Given the description of an element on the screen output the (x, y) to click on. 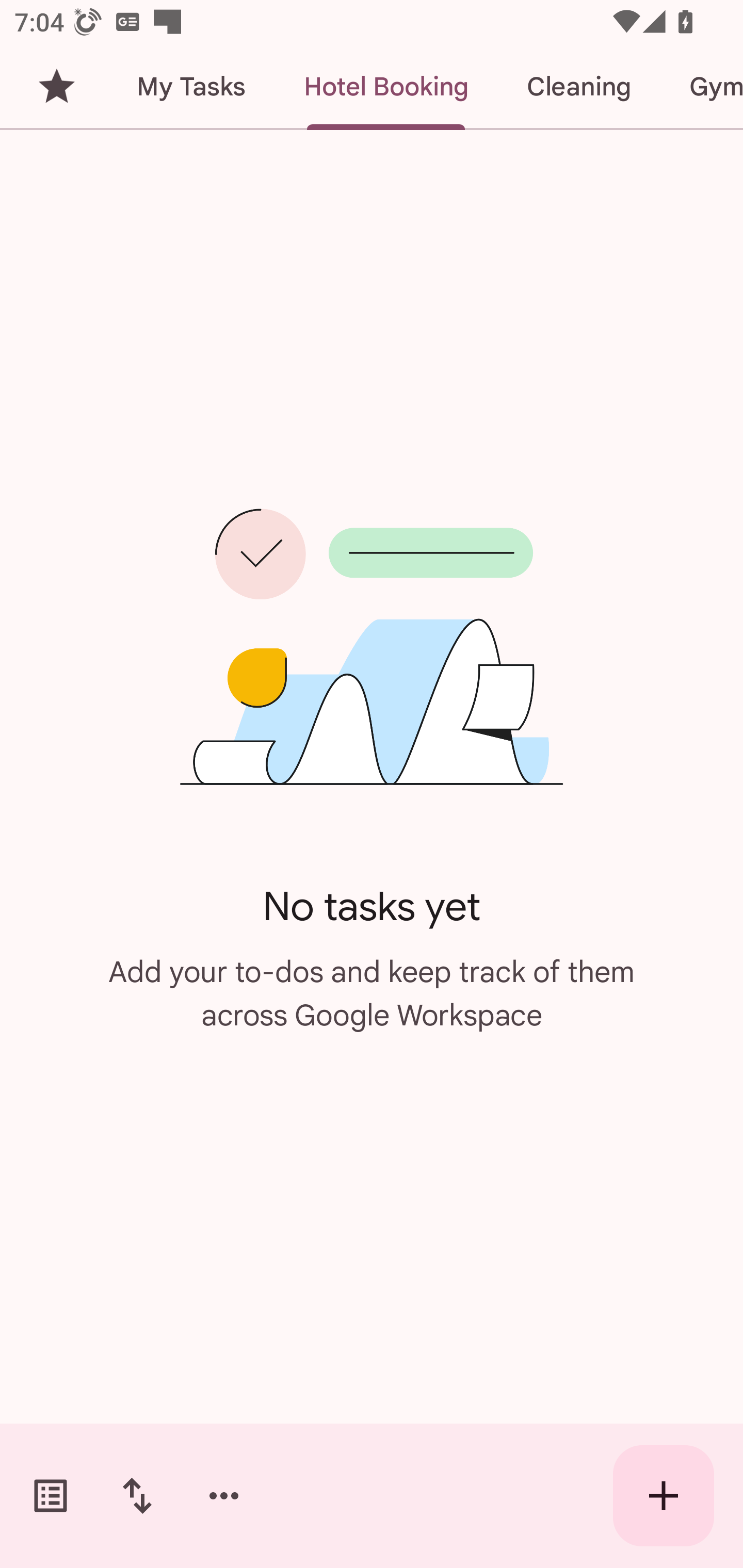
Starred (55, 86)
My Tasks (190, 86)
Cleaning (578, 86)
Gym (701, 86)
Switch task lists (50, 1495)
Create new task (663, 1495)
Change sort order (136, 1495)
More options (223, 1495)
